Given the description of an element on the screen output the (x, y) to click on. 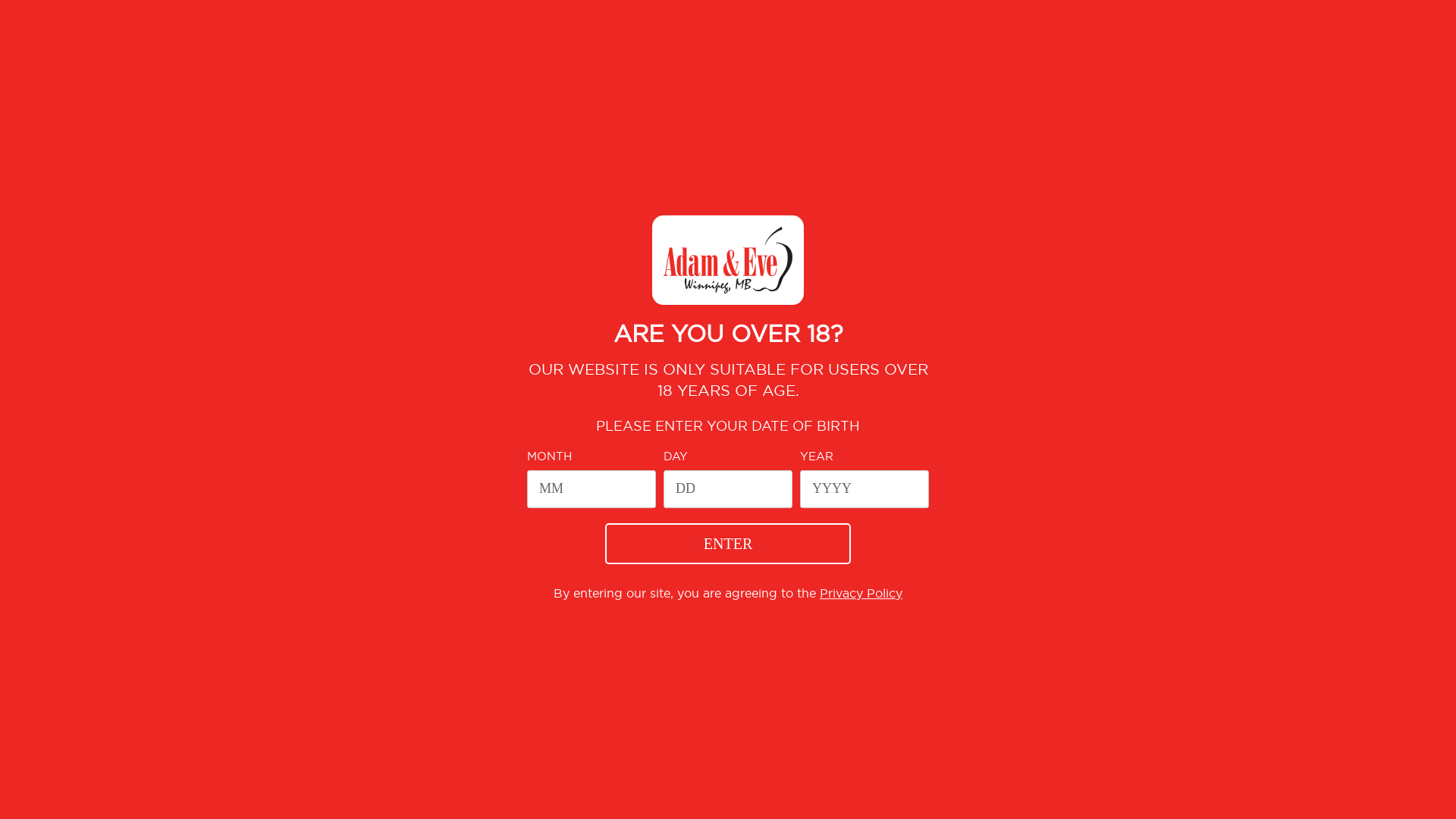
SHOP ONLINE Element type: text (293, 178)
Privacy Policy Element type: text (860, 592)
+1 204-779-6789 Element type: text (727, 727)
SHOP ONLINE Element type: text (686, 141)
SHOP ONLINE Element type: text (539, 669)
Here Element type: text (628, 311)
Instagram Element type: hover (777, 642)
Please enter day Element type: hover (727, 489)
Please enter year Element type: hover (864, 489)
Twitter Element type: hover (727, 642)
CALL NOW Element type: text (262, 17)
THE GARDEN Element type: text (627, 669)
HOME Element type: text (483, 141)
OUR COLLECTION Element type: text (818, 141)
JOIN OUR TEAM Element type: text (721, 669)
PURE SILVER CREATIVE Element type: text (936, 790)
SITEMAP Element type: text (1037, 790)
CONTACT US Element type: text (920, 669)
PRIVACY POLICY Element type: text (825, 669)
OUR STORE Element type: text (573, 141)
HOME Element type: text (239, 178)
THE GARDEN Element type: text (950, 141)
Please enter month Element type: hover (591, 489)
SHOP ONLINE Element type: text (332, 17)
Facebook Element type: hover (677, 642)
Explore. Shop. Experiment. Element type: hover (291, 67)
Enter Element type: text (727, 543)
